Given the description of an element on the screen output the (x, y) to click on. 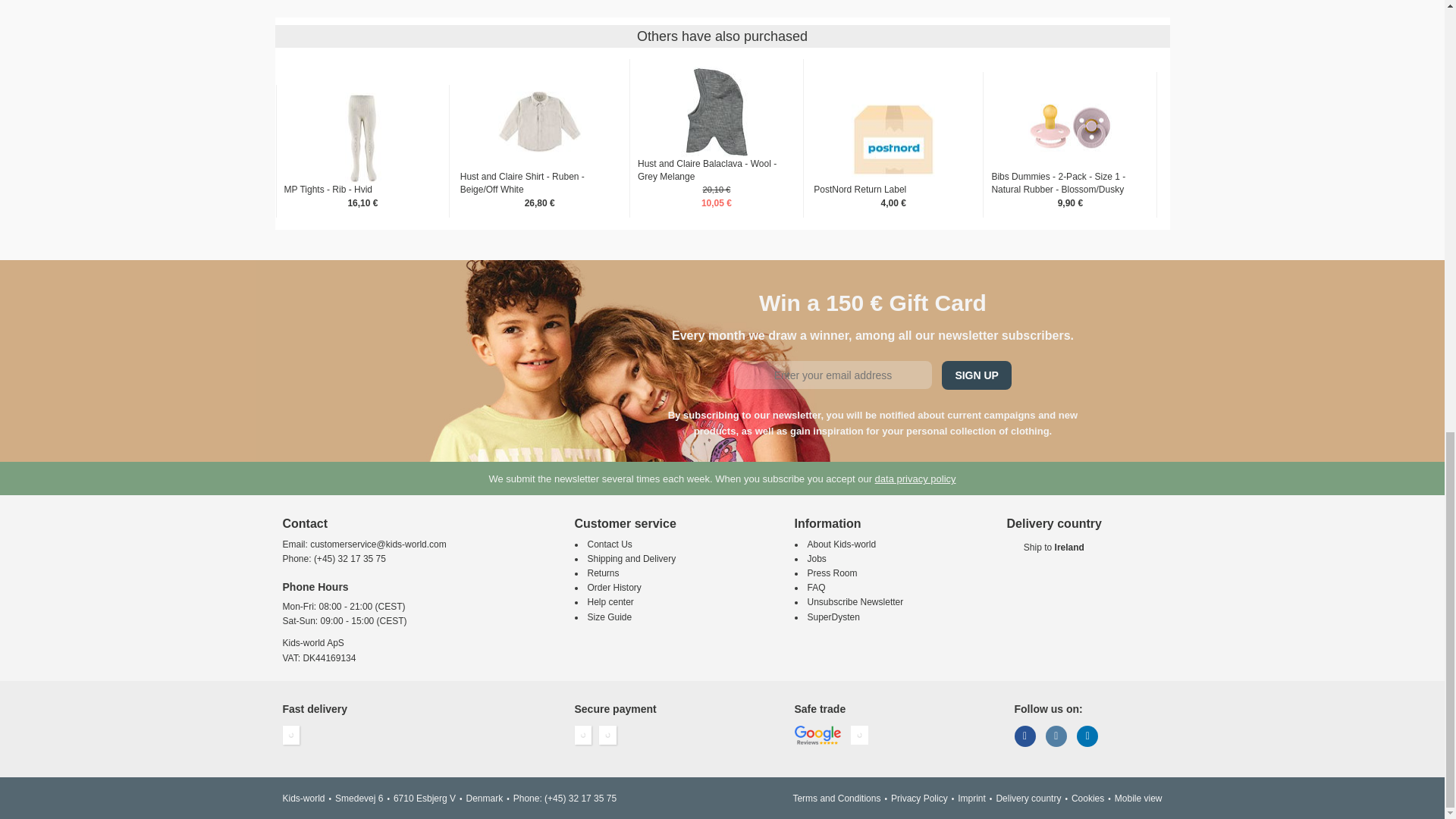
PostNord Return Label (892, 137)
Sistema Lunchbox - Bento Lunch - 1.65 L - Blue (362, 274)
Instagram (1056, 736)
CO2 Neutral Website (858, 734)
Hust and Claire Balaclava - Wool - Grey Melange (716, 112)
MP Tights - Rib - Hvid (362, 137)
Facebook (1024, 736)
LinkedIn (1087, 736)
